Given the description of an element on the screen output the (x, y) to click on. 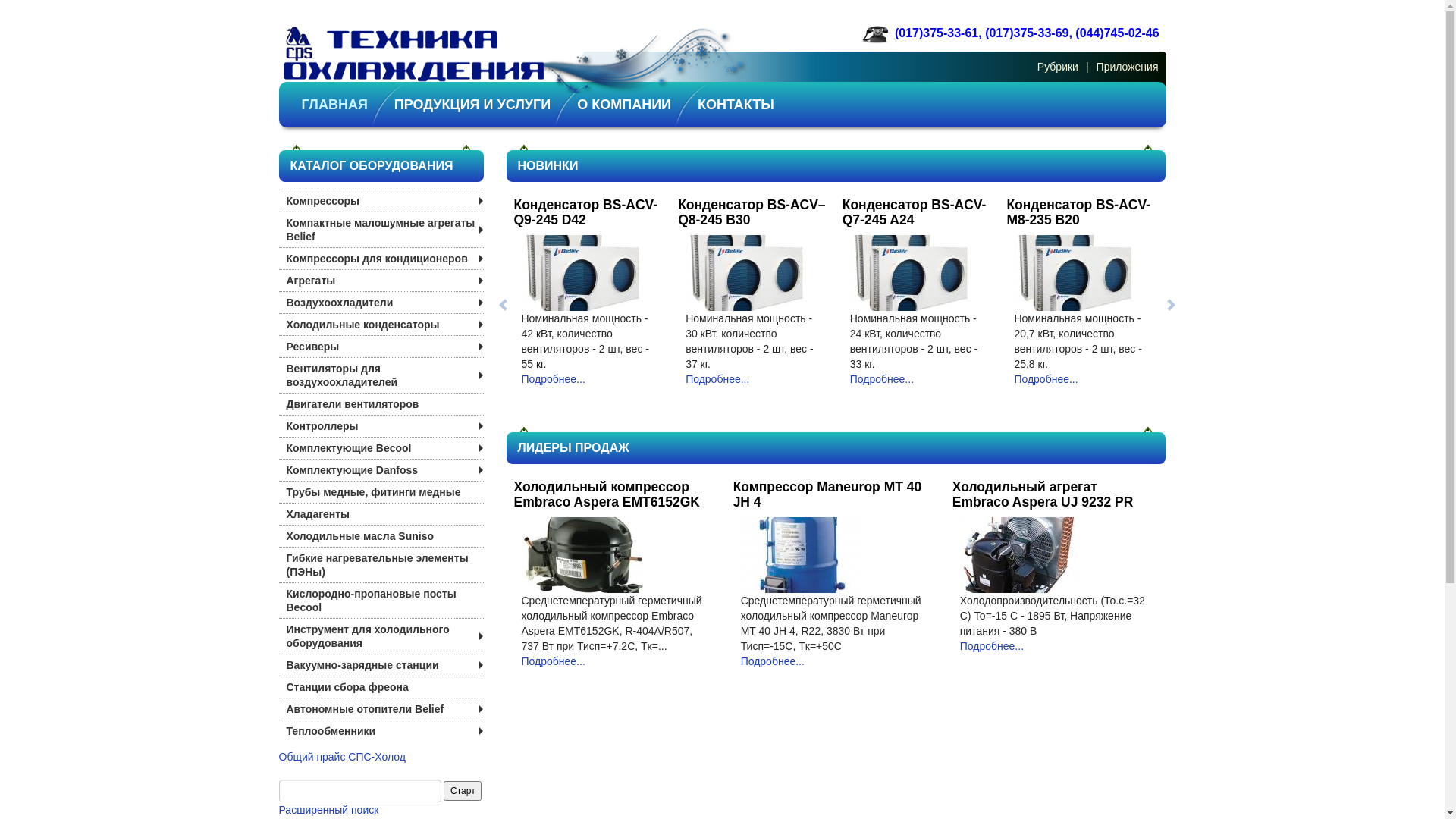
Previous Element type: text (501, 303)
Next Element type: text (1170, 303)
